Given the description of an element on the screen output the (x, y) to click on. 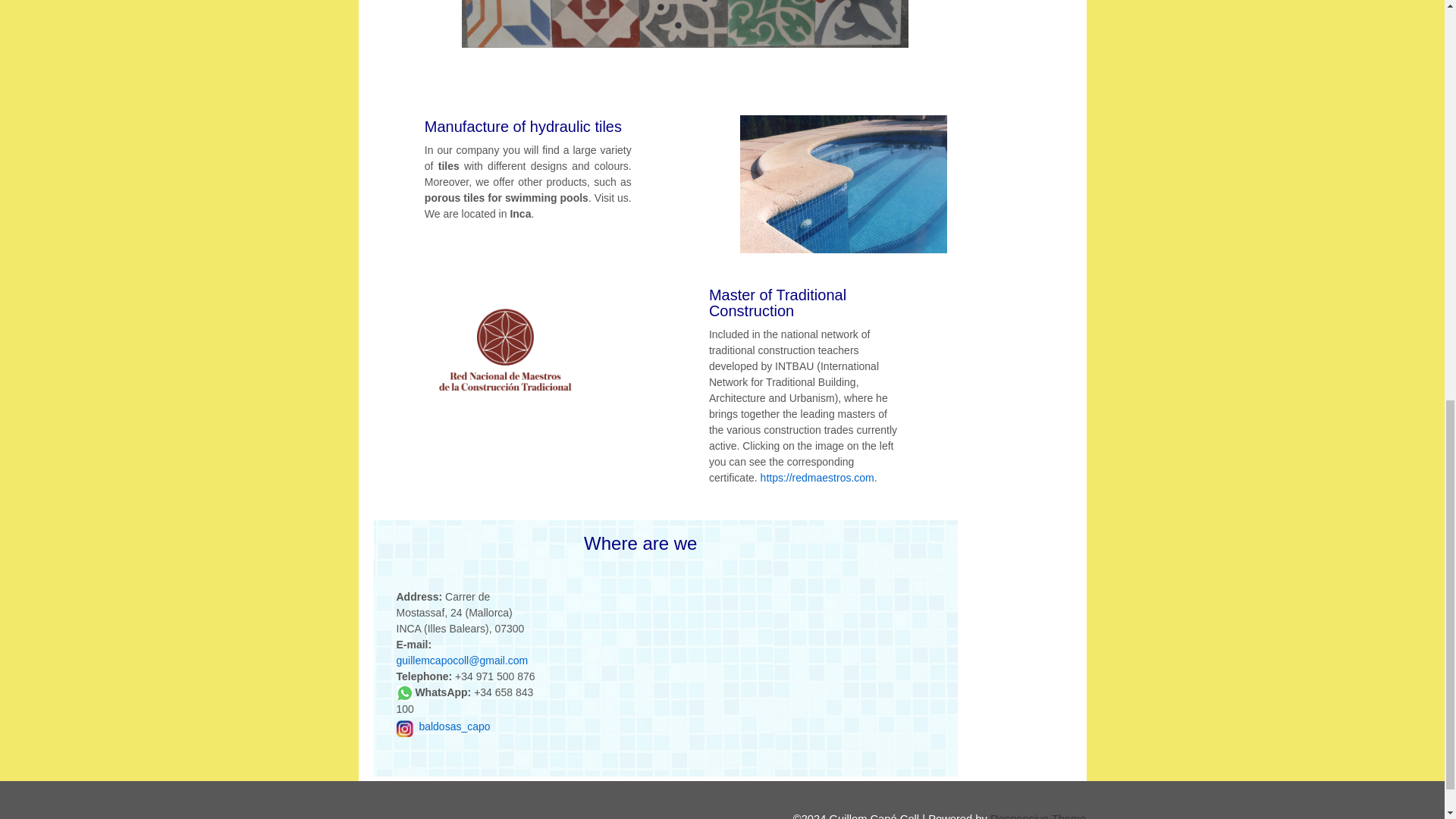
Responsive Theme (1038, 816)
 Responsive Theme  (1038, 816)
Click to see certificate (505, 351)
